Given the description of an element on the screen output the (x, y) to click on. 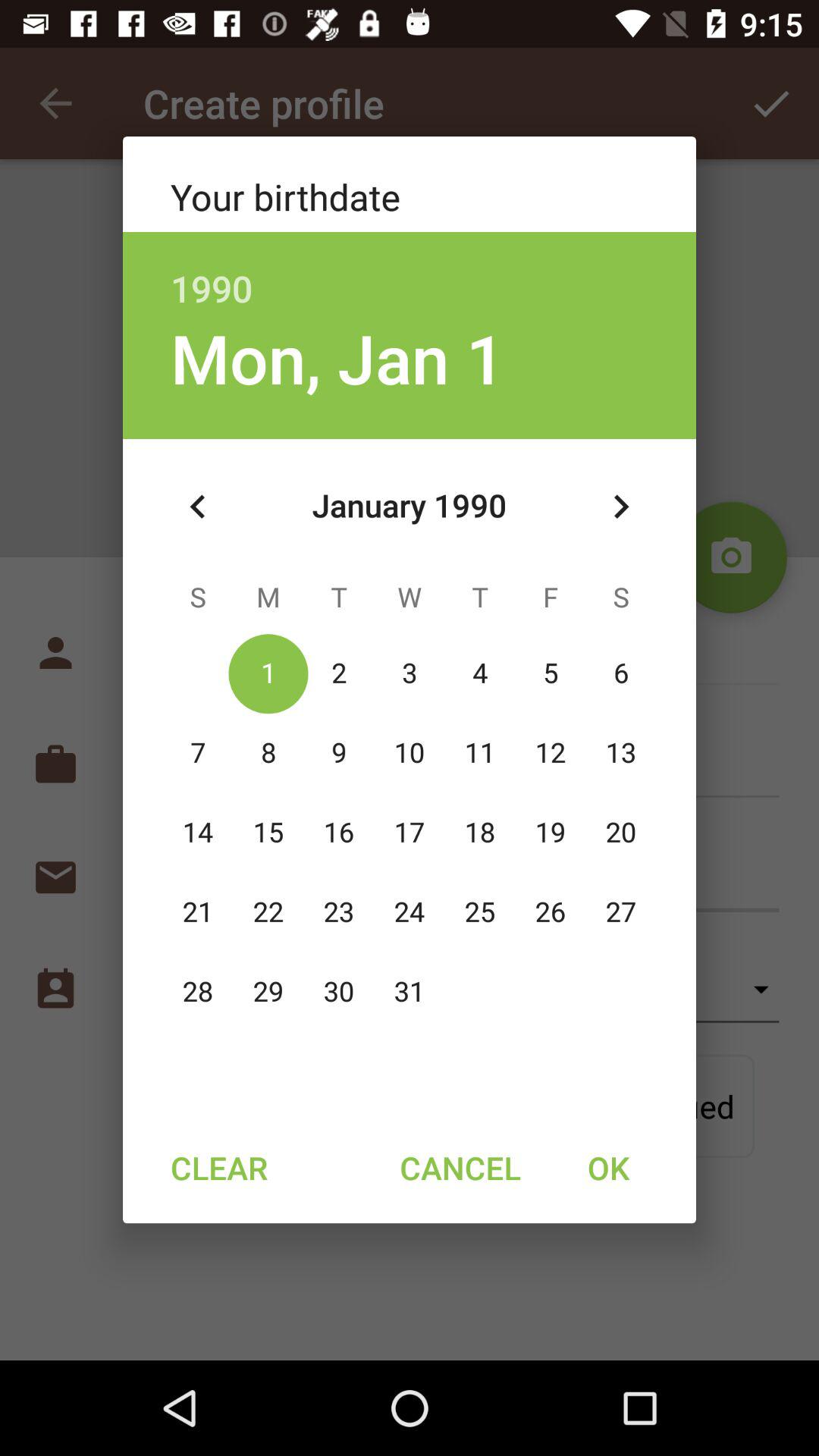
press item above mon, jan 1 icon (409, 272)
